Given the description of an element on the screen output the (x, y) to click on. 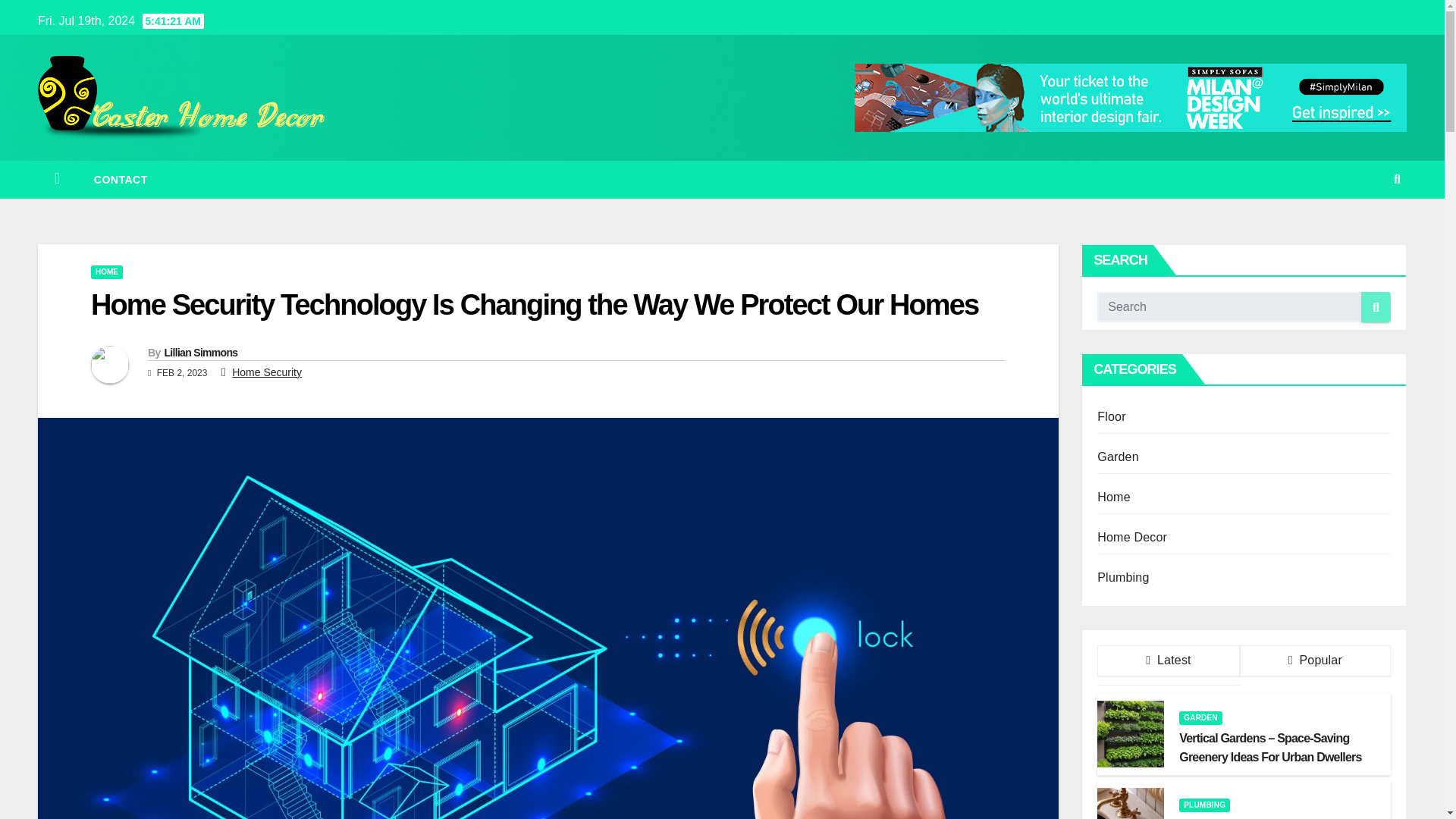
Home Security (266, 372)
Lillian Simmons (200, 352)
CONTACT (120, 179)
HOME (106, 272)
Contact (120, 179)
